Given the description of an element on the screen output the (x, y) to click on. 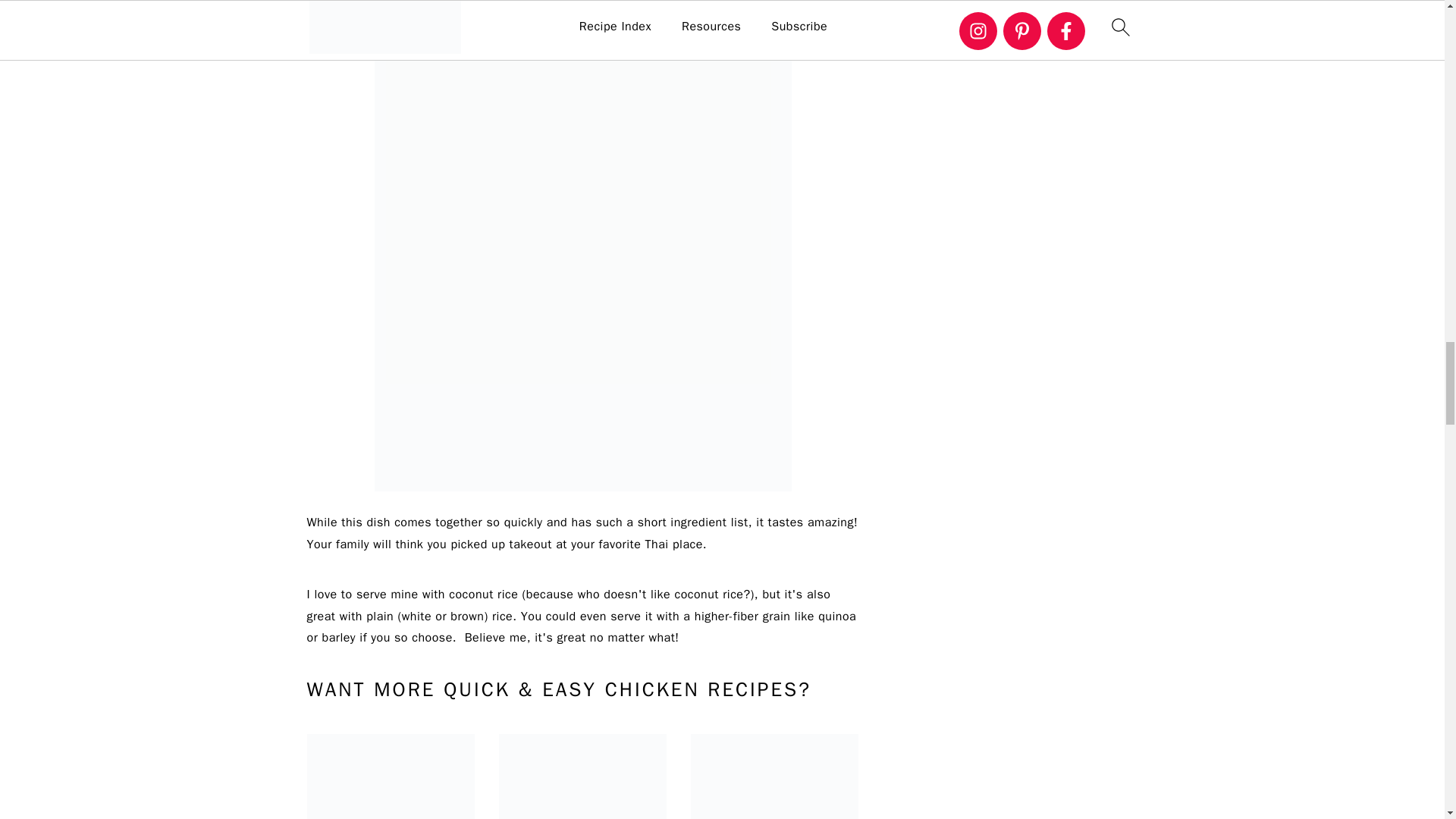
Spicy Thai Basil Chicken (774, 776)
Spicy Thai Basil Chicken (389, 776)
Spicy Thai Basil Chicken (582, 776)
